Given the description of an element on the screen output the (x, y) to click on. 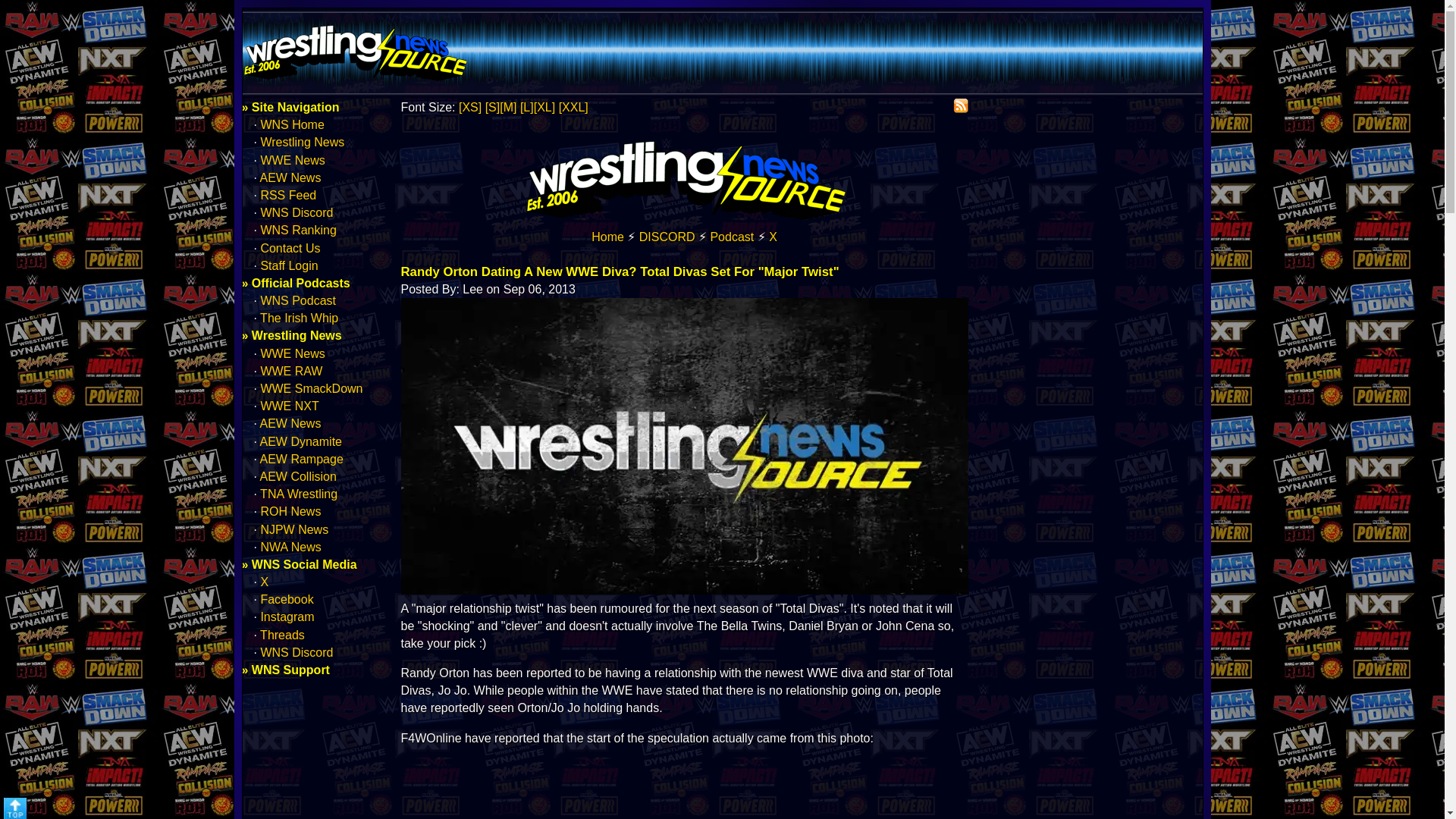
WNS Home (607, 236)
WNS Podcast (298, 300)
Threads (282, 634)
Keep up with the RSS feed! (960, 105)
The Irish Whip (298, 318)
WWE SmackDown (311, 388)
AEW News (290, 422)
Facebook (286, 599)
Contact Us (290, 246)
WNS Discord (296, 212)
